Given the description of an element on the screen output the (x, y) to click on. 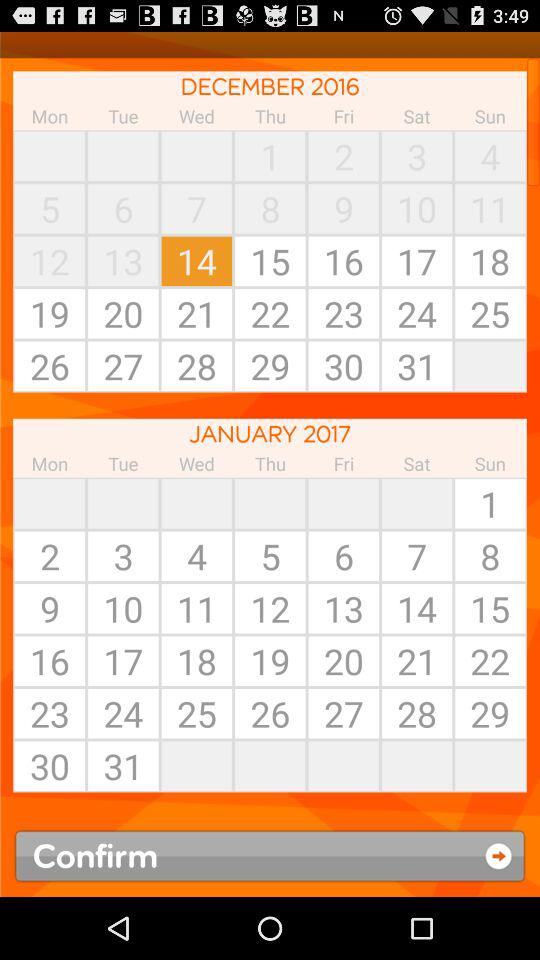
click item to the left of tue item (49, 155)
